Given the description of an element on the screen output the (x, y) to click on. 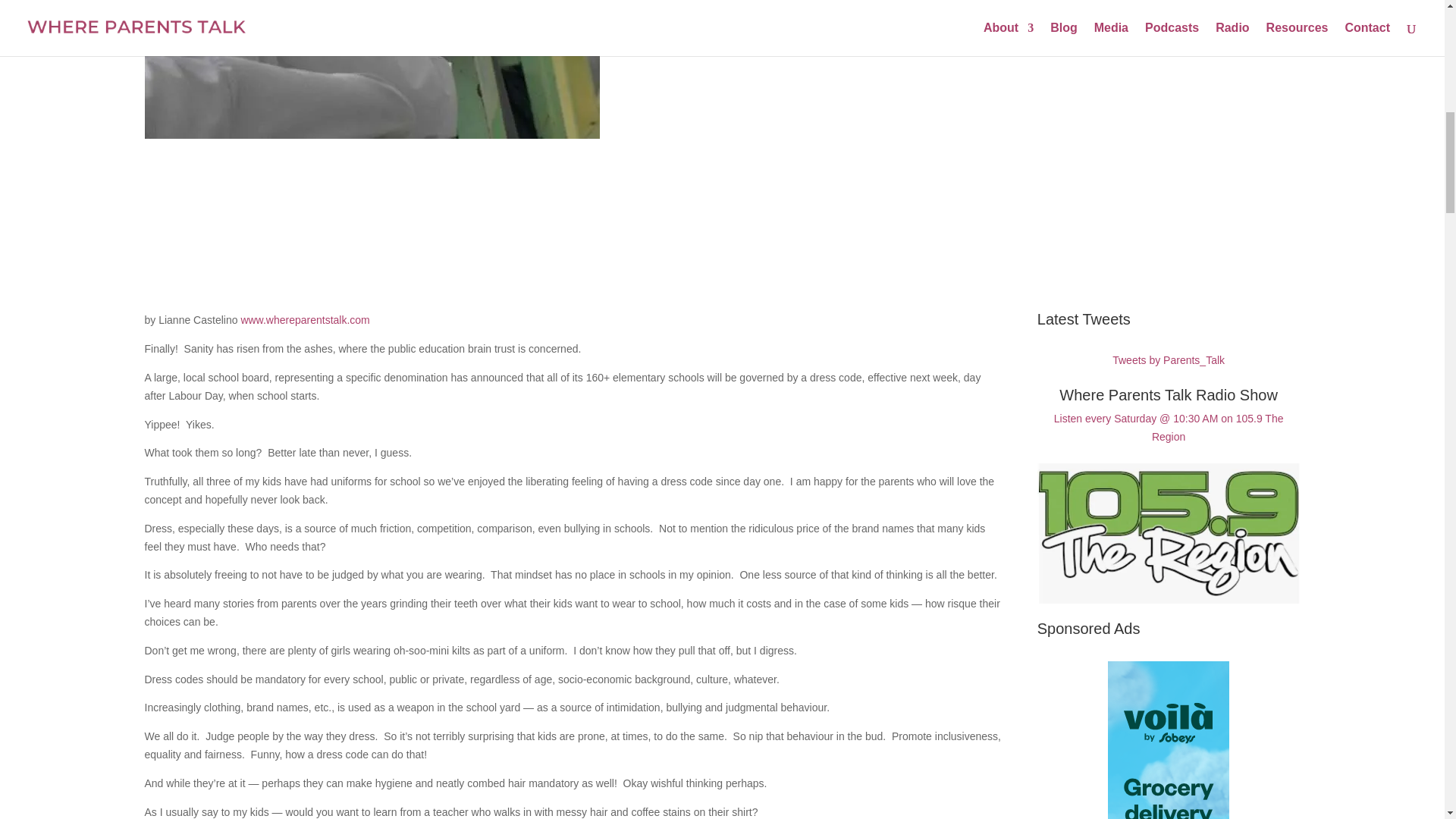
www.whereparentstalk.com (304, 319)
www.whereparentstalk.com (304, 319)
Region logo white (1168, 533)
